Given the description of an element on the screen output the (x, y) to click on. 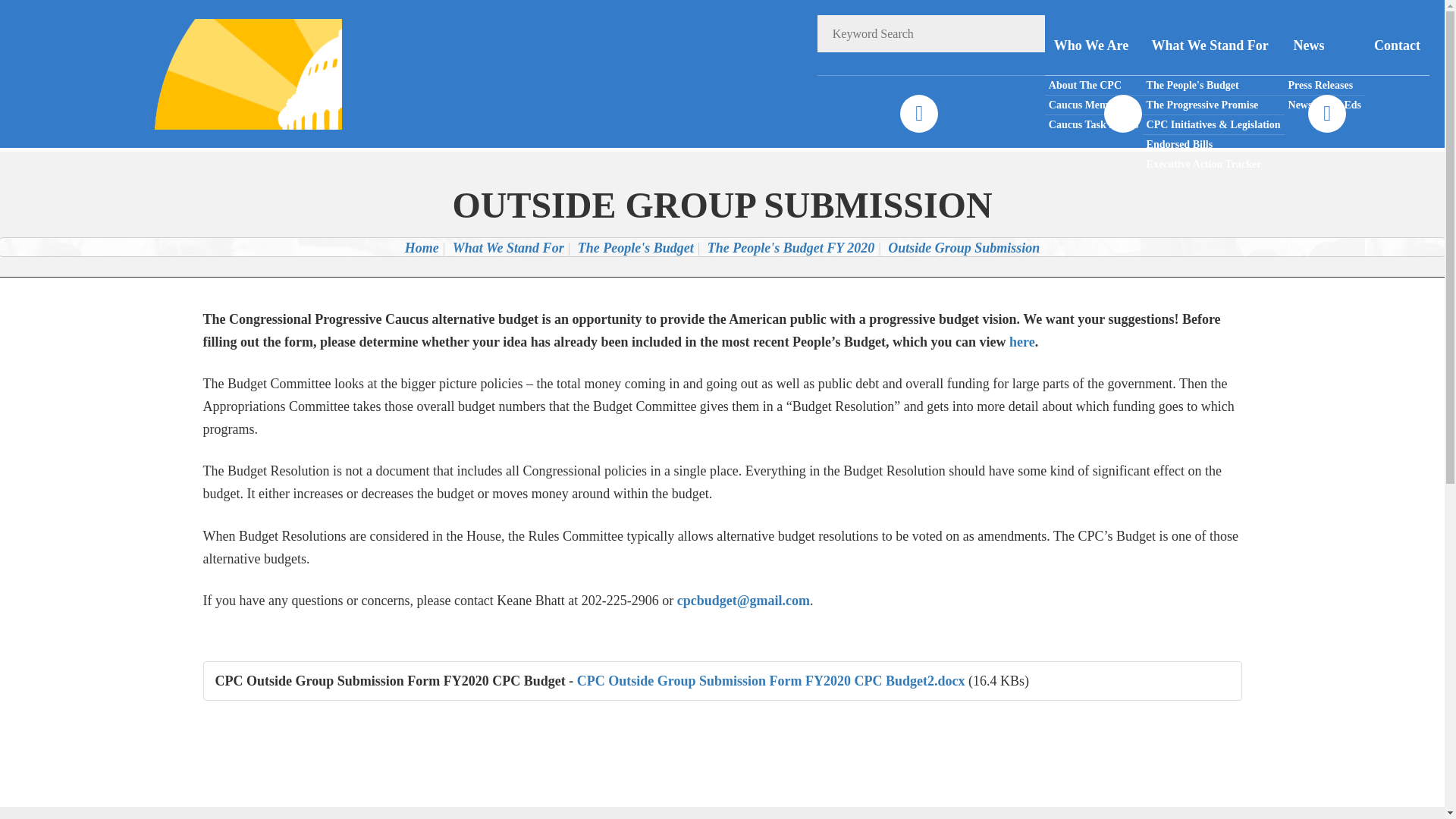
Executive Action Tracker (1213, 163)
Caucus Members (1093, 105)
Home (421, 247)
Contact (1397, 45)
The Progressive Promise (1213, 105)
CPC Outside Group Submission Form FY2020 CPC Budget2.docx (770, 680)
Facebook (918, 113)
Outside Group Submission (963, 247)
The People's Budget (636, 247)
The People's Budget (1213, 85)
